Given the description of an element on the screen output the (x, y) to click on. 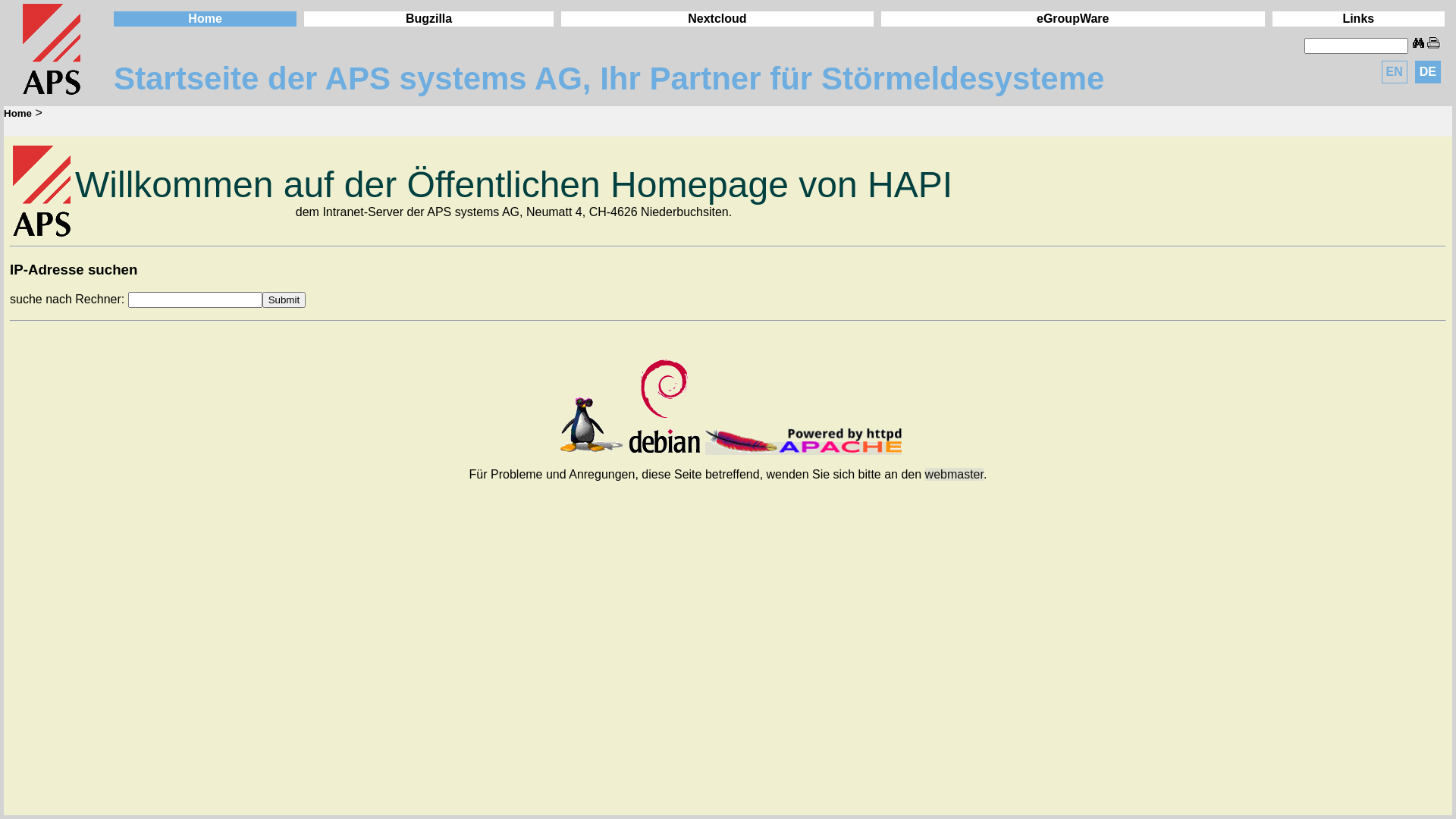
Bugzilla Element type: text (428, 18)
EN Element type: text (1394, 71)
Home Element type: text (17, 113)
eGroupWare Element type: text (1072, 18)
Links Element type: text (1358, 18)
Nextcloud Element type: text (716, 18)
Home Element type: text (204, 18)
DE Element type: text (1427, 71)
